Given the description of an element on the screen output the (x, y) to click on. 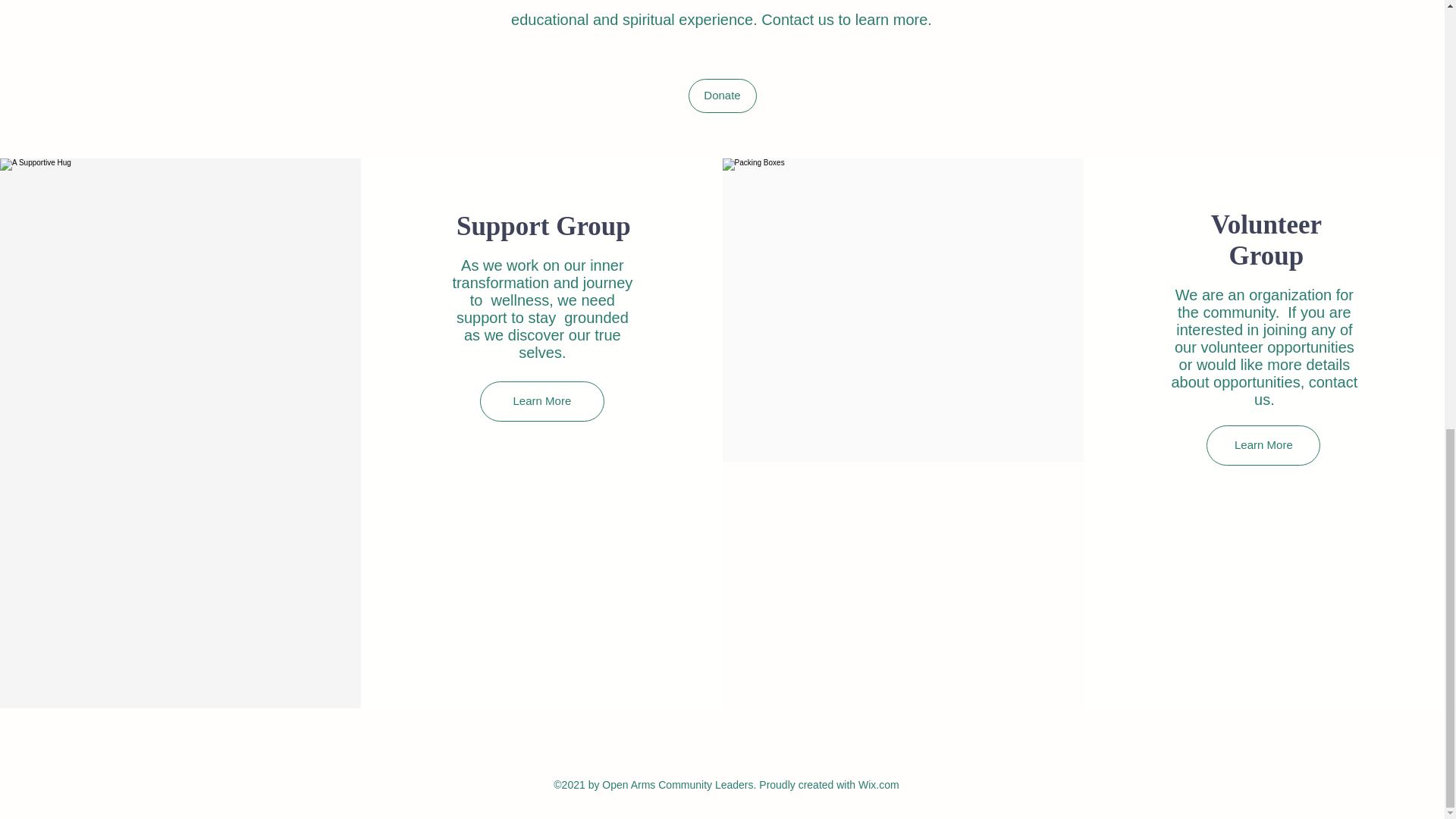
Learn More (1263, 445)
Donate (722, 95)
Learn More (542, 401)
